Given the description of an element on the screen output the (x, y) to click on. 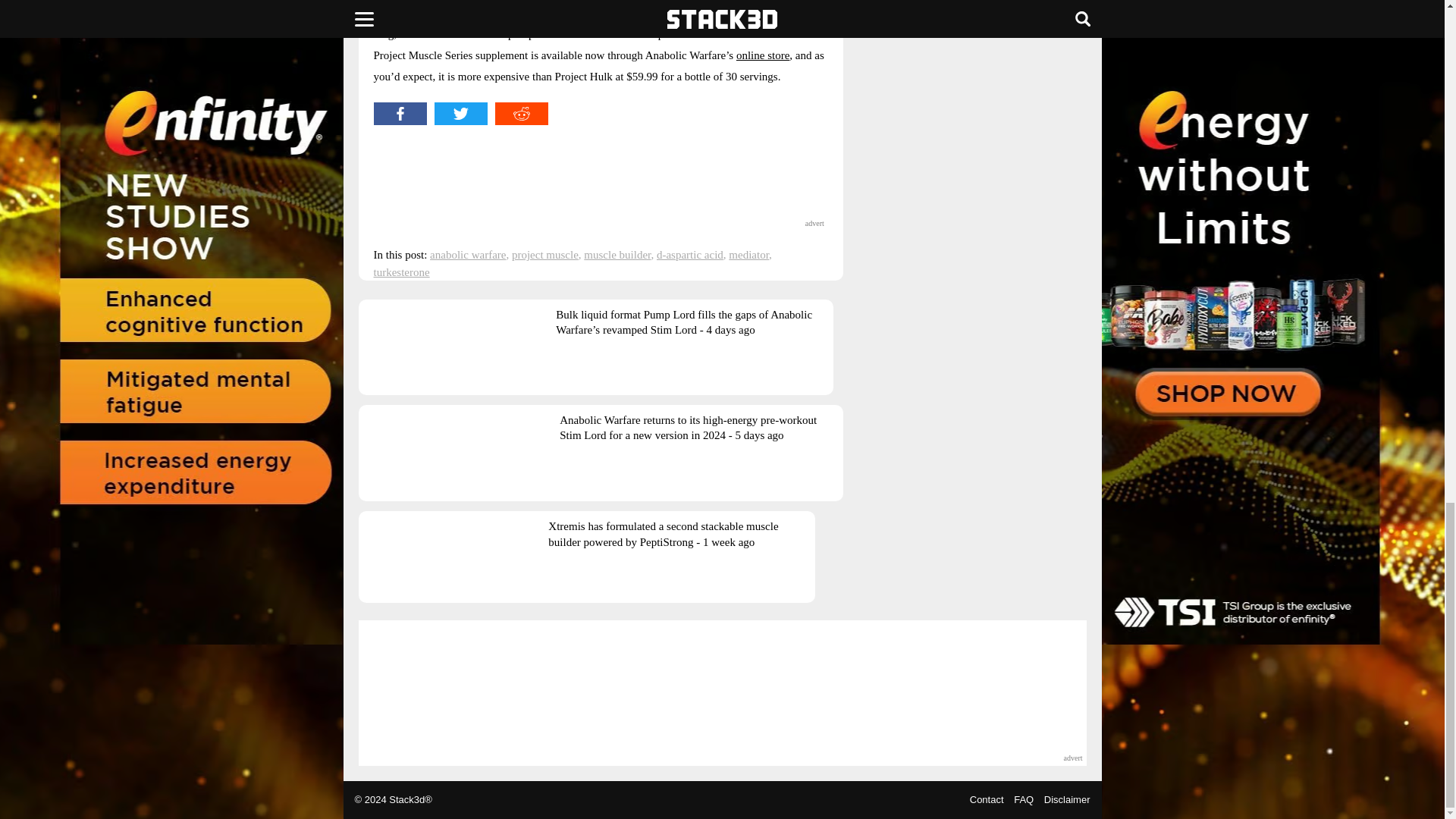
online store (762, 55)
